Given the description of an element on the screen output the (x, y) to click on. 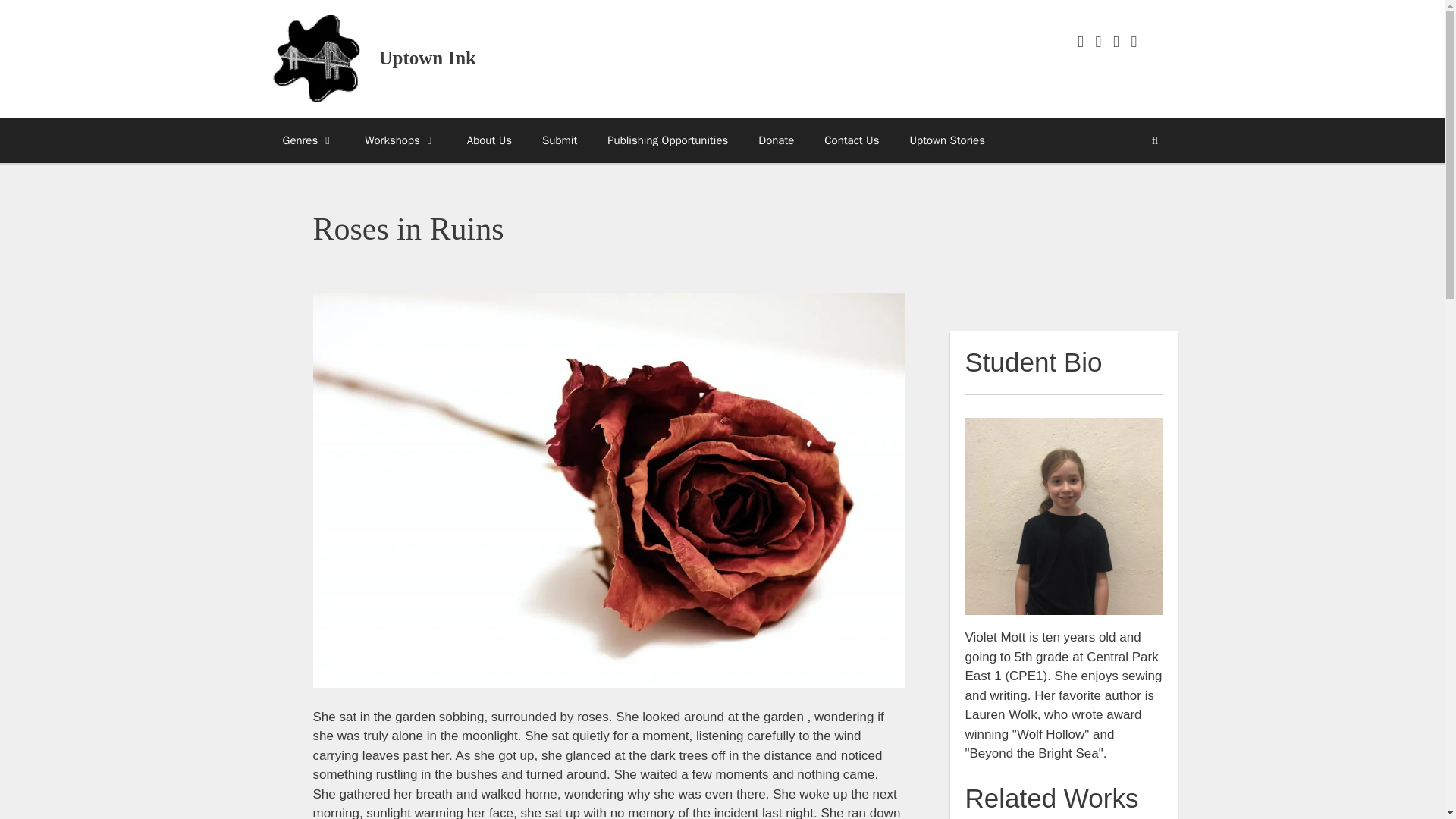
Publishing Opportunities (667, 139)
Genres (307, 139)
Uptown Ink (315, 58)
About Us (489, 139)
Workshops (400, 139)
Submit (559, 139)
Uptown Ink (315, 57)
Uptown Ink (427, 57)
